Given the description of an element on the screen output the (x, y) to click on. 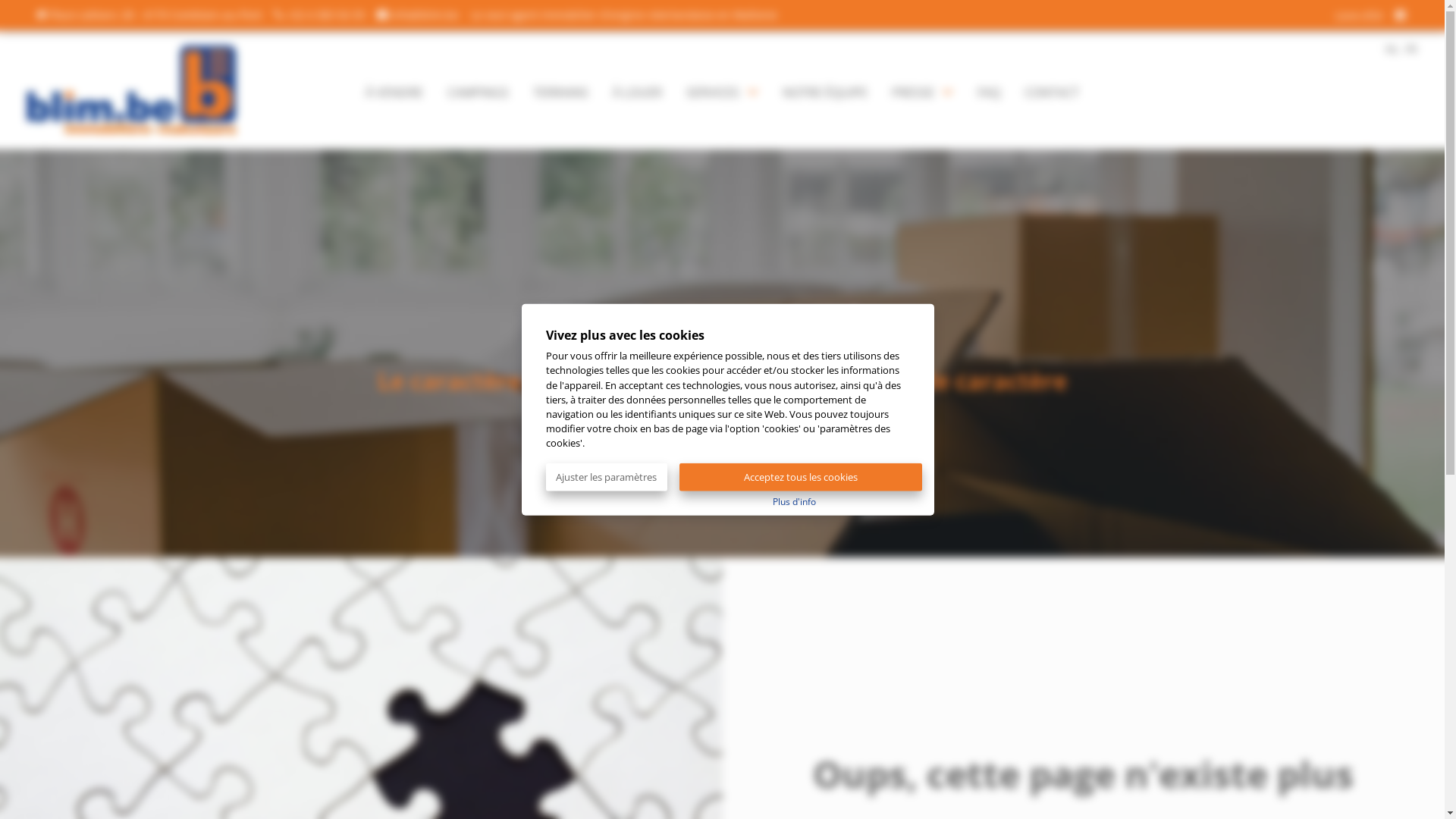
 +32 4 383 56 59 Element type: text (319, 14)
FR Element type: text (1411, 48)
Plus d'info Element type: text (793, 499)
CONTACT Element type: text (1051, 89)
SERVICES Element type: text (722, 89)
TERRAINS Element type: text (560, 89)
NL Element type: text (1392, 48)
 Place Leblanc 28 - 4170 Comblain-au-Pont Element type: text (149, 14)
Home Element type: hover (140, 89)
Acceptez tous les cookies Element type: text (800, 476)
 info@blim.be Element type: text (417, 14)
FAQ Element type: text (988, 89)
CAMPINGS Element type: text (477, 89)
  Element type: text (1402, 15)
PRESSE Element type: text (922, 89)
